Given the description of an element on the screen output the (x, y) to click on. 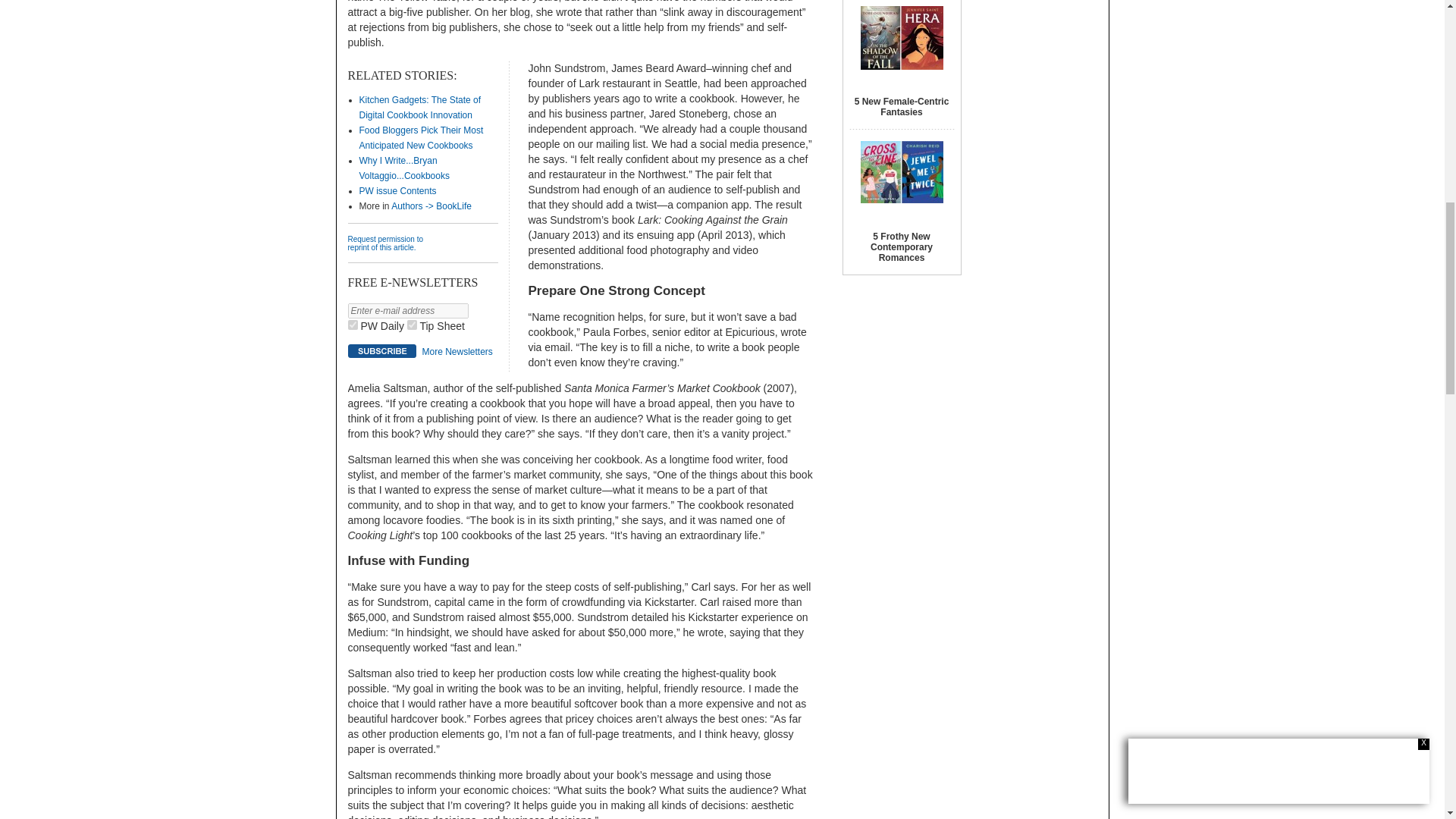
subscribe (380, 350)
1 (351, 325)
6 (411, 325)
3rd party ad content (1035, 63)
